Given the description of an element on the screen output the (x, y) to click on. 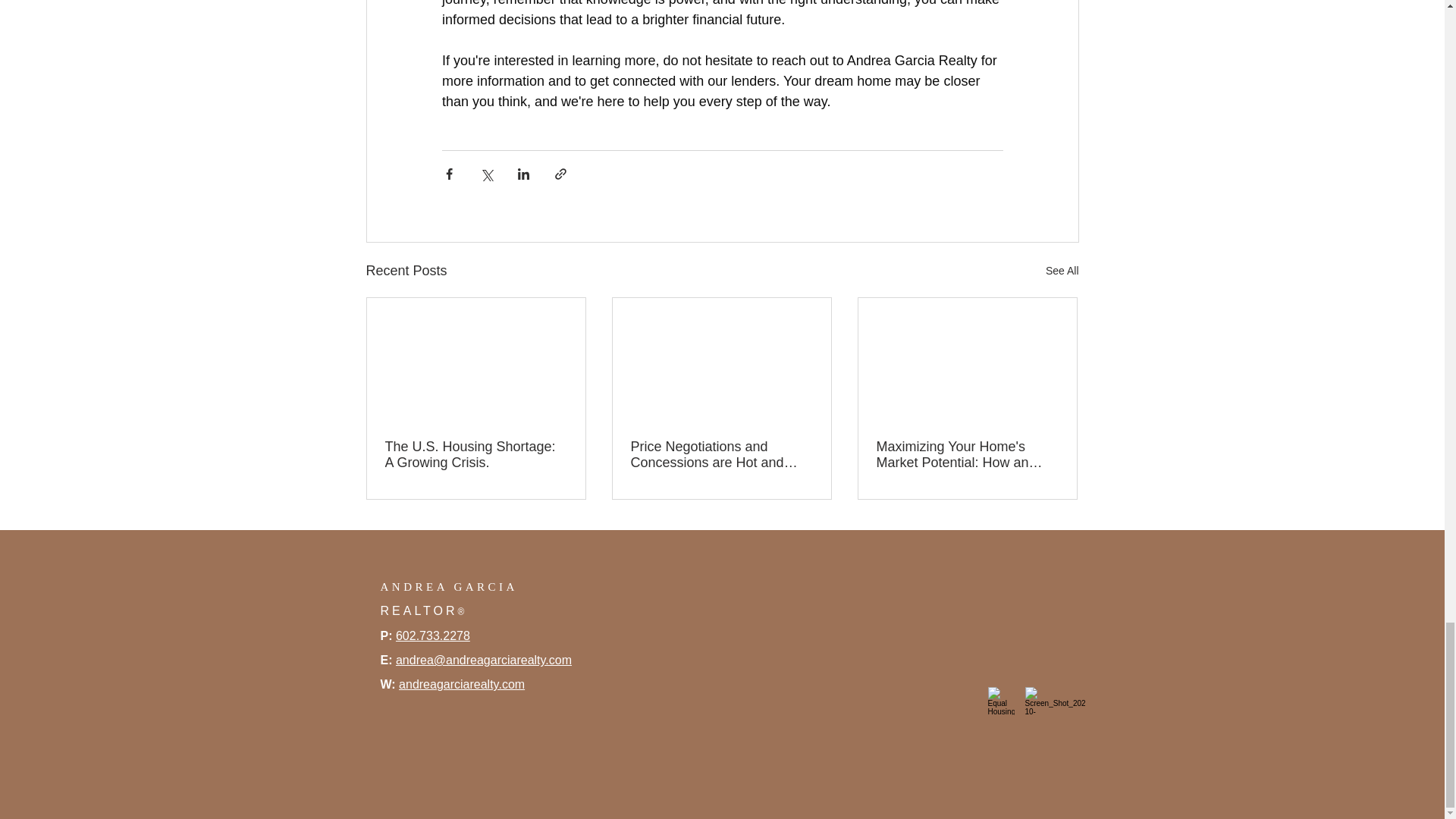
andreagarciarealty.com (461, 684)
See All (1061, 270)
The U.S. Housing Shortage: A Growing Crisis. (476, 454)
602.733.2278 (433, 635)
